Given the description of an element on the screen output the (x, y) to click on. 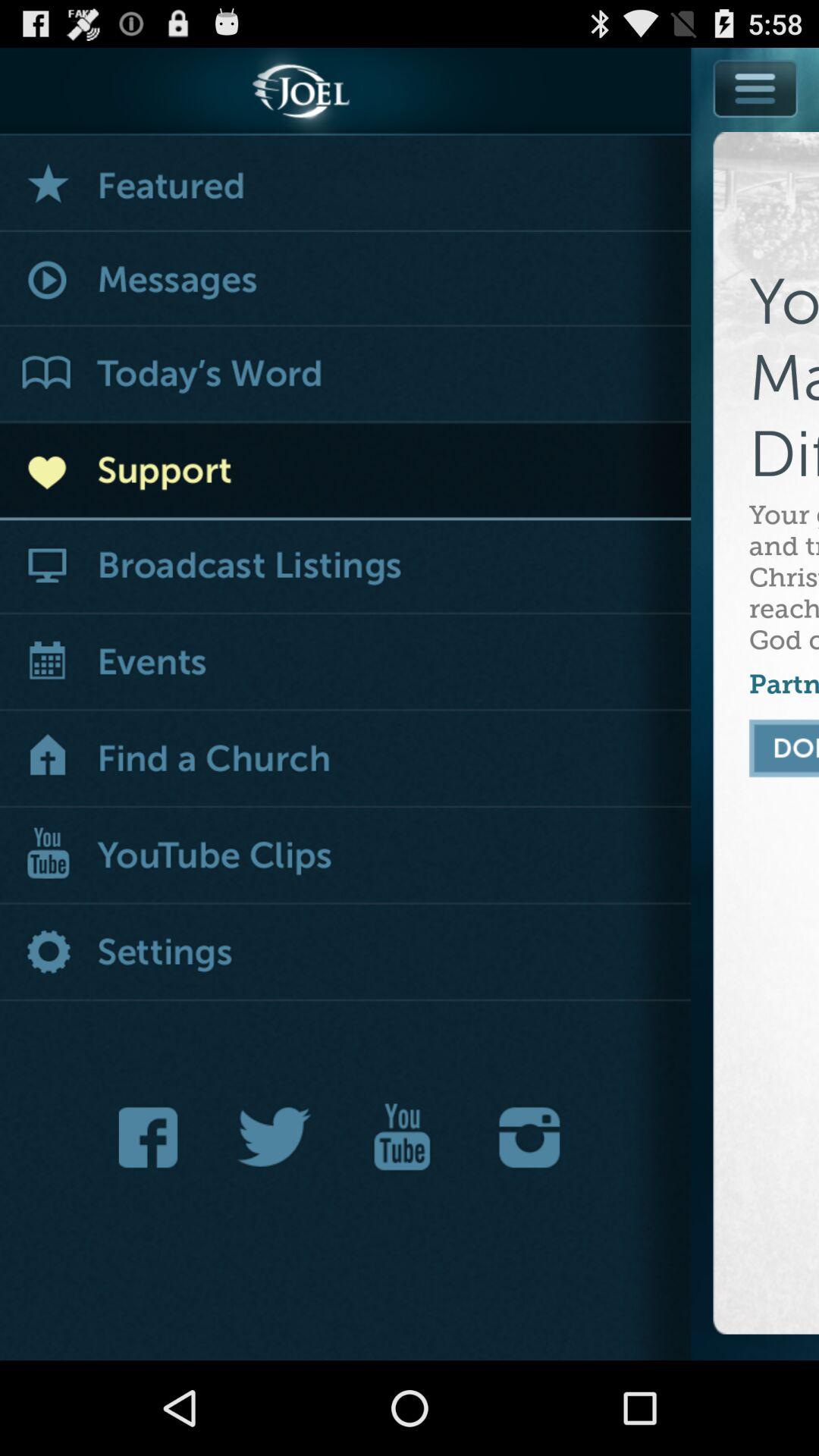
visit on facebook (152, 1137)
